Given the description of an element on the screen output the (x, y) to click on. 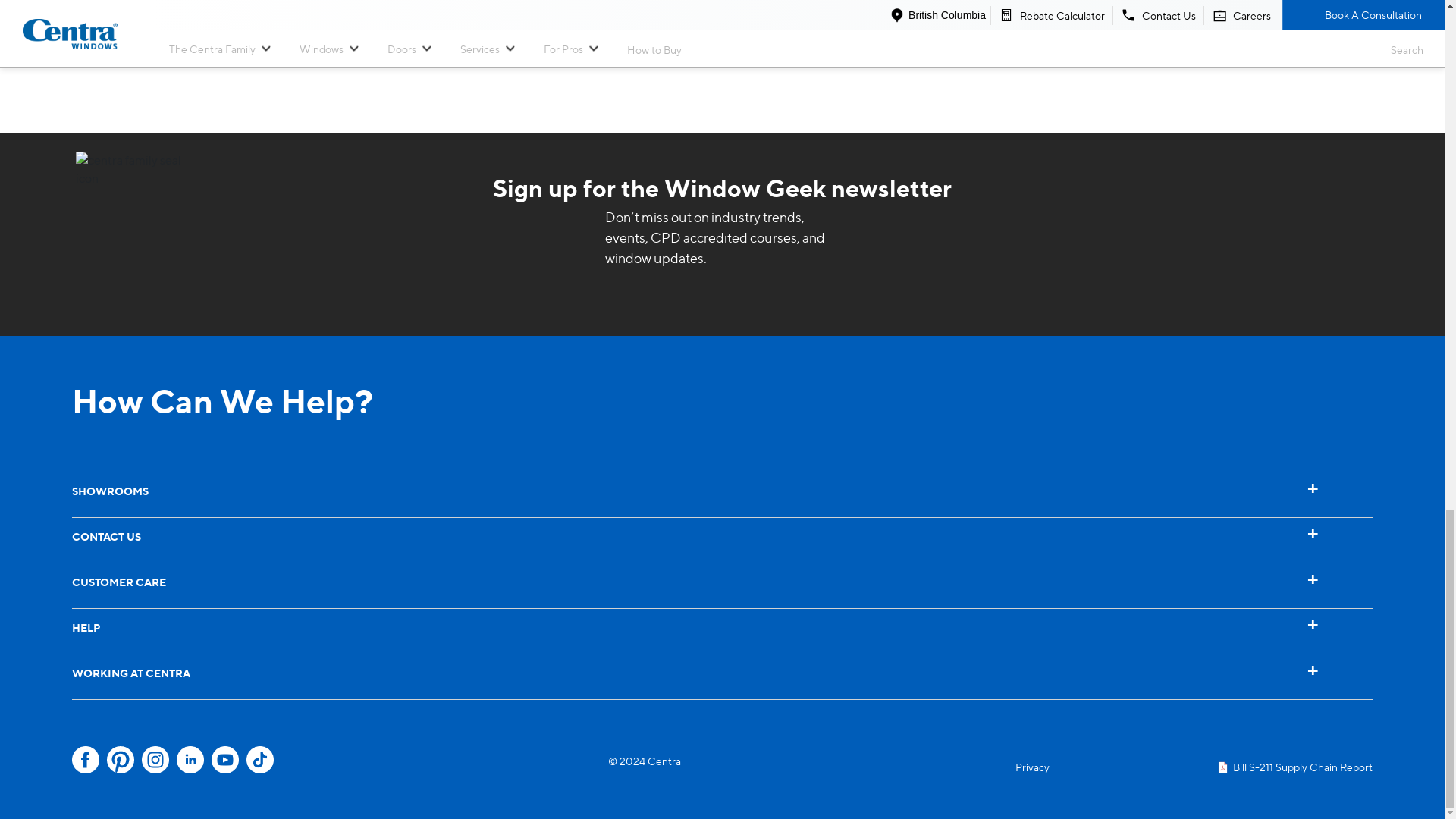
Instagram (154, 759)
YouTube (224, 759)
LinkedIn (189, 759)
Facebook (85, 759)
Pinterest (119, 759)
TikTok (259, 759)
